Given the description of an element on the screen output the (x, y) to click on. 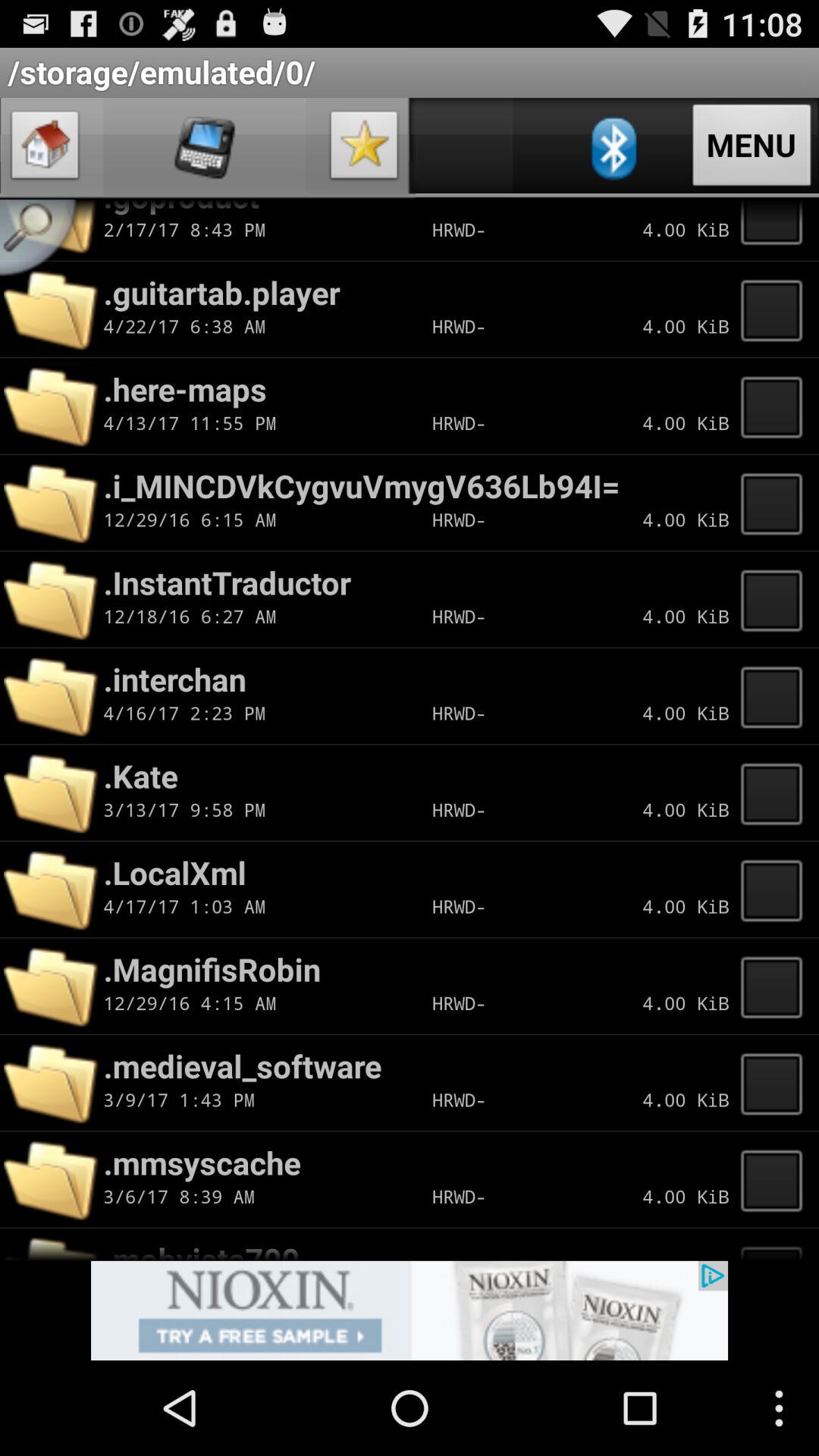
menu (776, 1244)
